Given the description of an element on the screen output the (x, y) to click on. 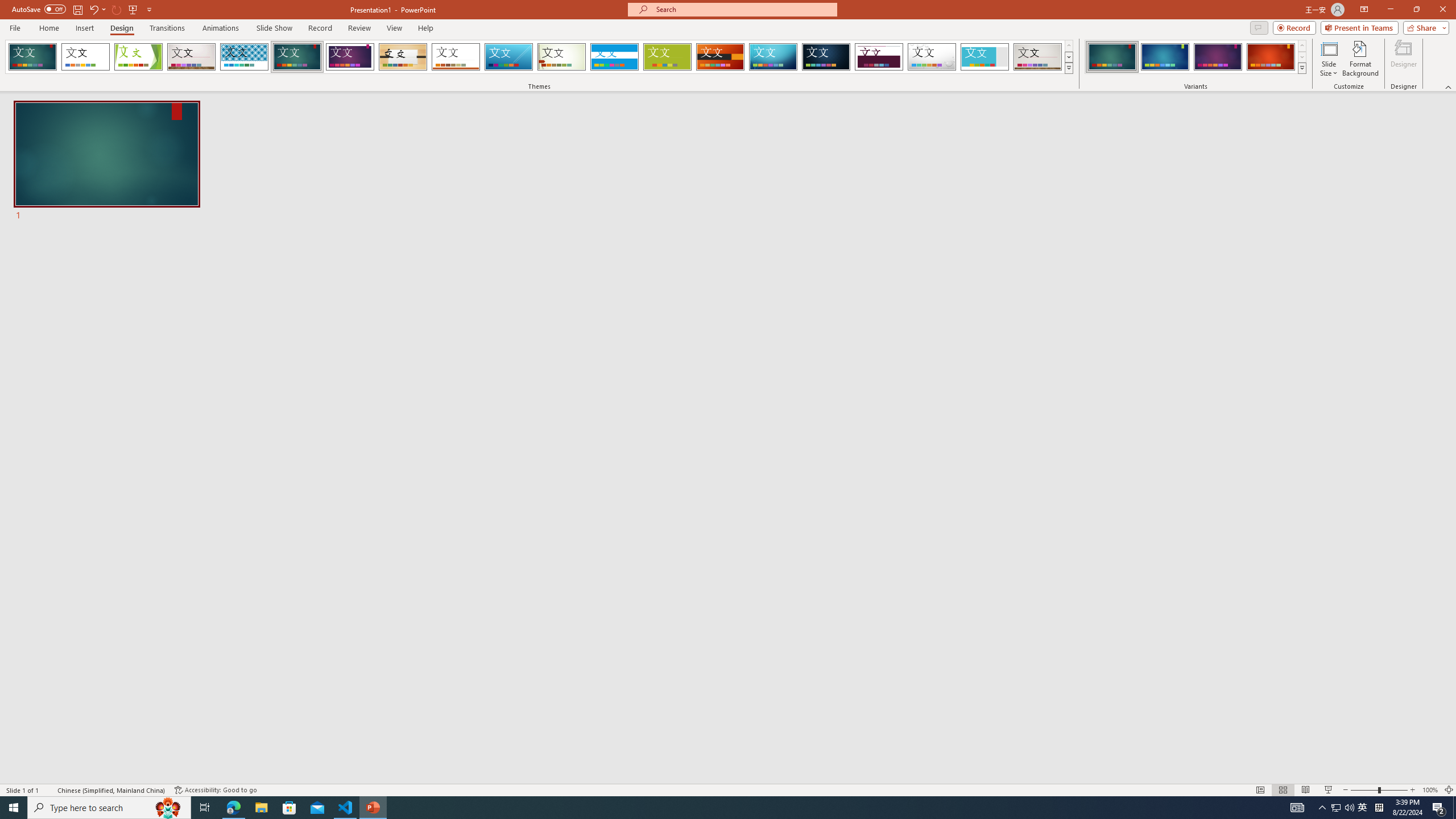
Ion Boardroom Loading Preview... (350, 56)
Droplet Loading Preview... (931, 56)
Basis Loading Preview... (667, 56)
Frame Loading Preview... (984, 56)
AutomationID: SlideThemesGallery (539, 56)
Banded Loading Preview... (614, 56)
Dividend Loading Preview... (879, 56)
